Given the description of an element on the screen output the (x, y) to click on. 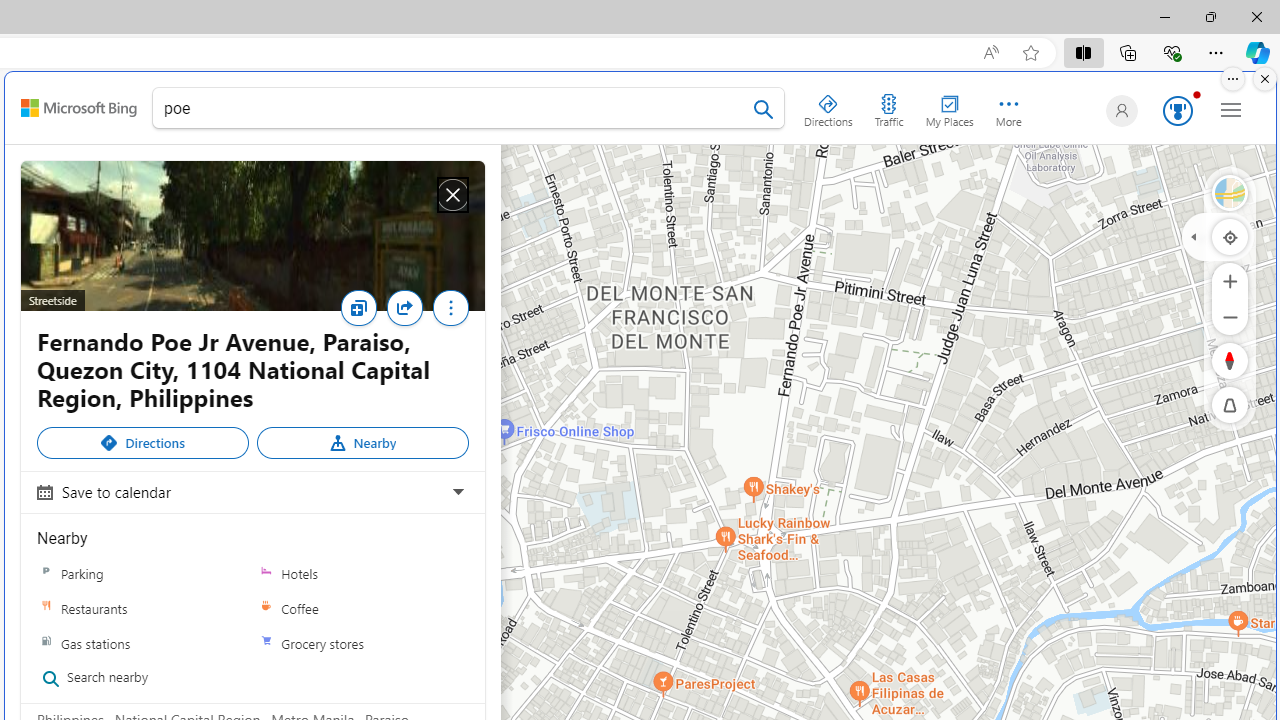
Coffee (266, 609)
Eugene (1117, 110)
Microsoft Rewards 123 (1174, 111)
poe (468, 111)
Satellite (1230, 192)
Close (452, 195)
Expand/Collapse Geochain (1193, 236)
Streetside (252, 236)
Parking (46, 573)
Select Style (1230, 192)
Traffic (888, 106)
Gas stations (143, 642)
Share (404, 308)
Restaurants (46, 609)
My Places (949, 106)
